Given the description of an element on the screen output the (x, y) to click on. 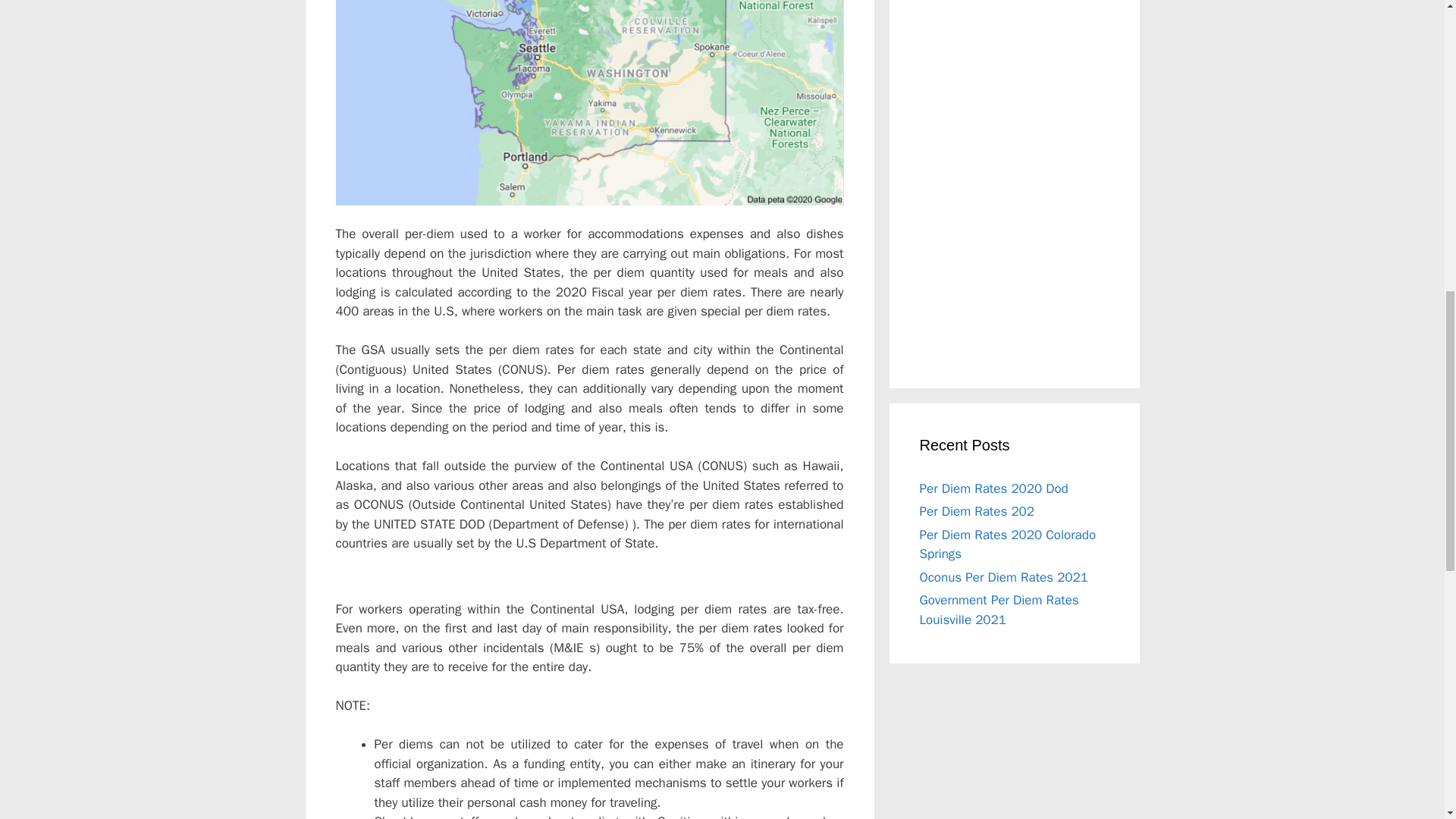
Per Diem Rates 2020 Colorado Springs (1007, 543)
Per Diem Rates 2020 Dod (992, 488)
Per Diem Rates 202 (975, 511)
Washington Per Diem Rates (588, 102)
Oconus Per Diem Rates 2021 (1002, 576)
